Given the description of an element on the screen output the (x, y) to click on. 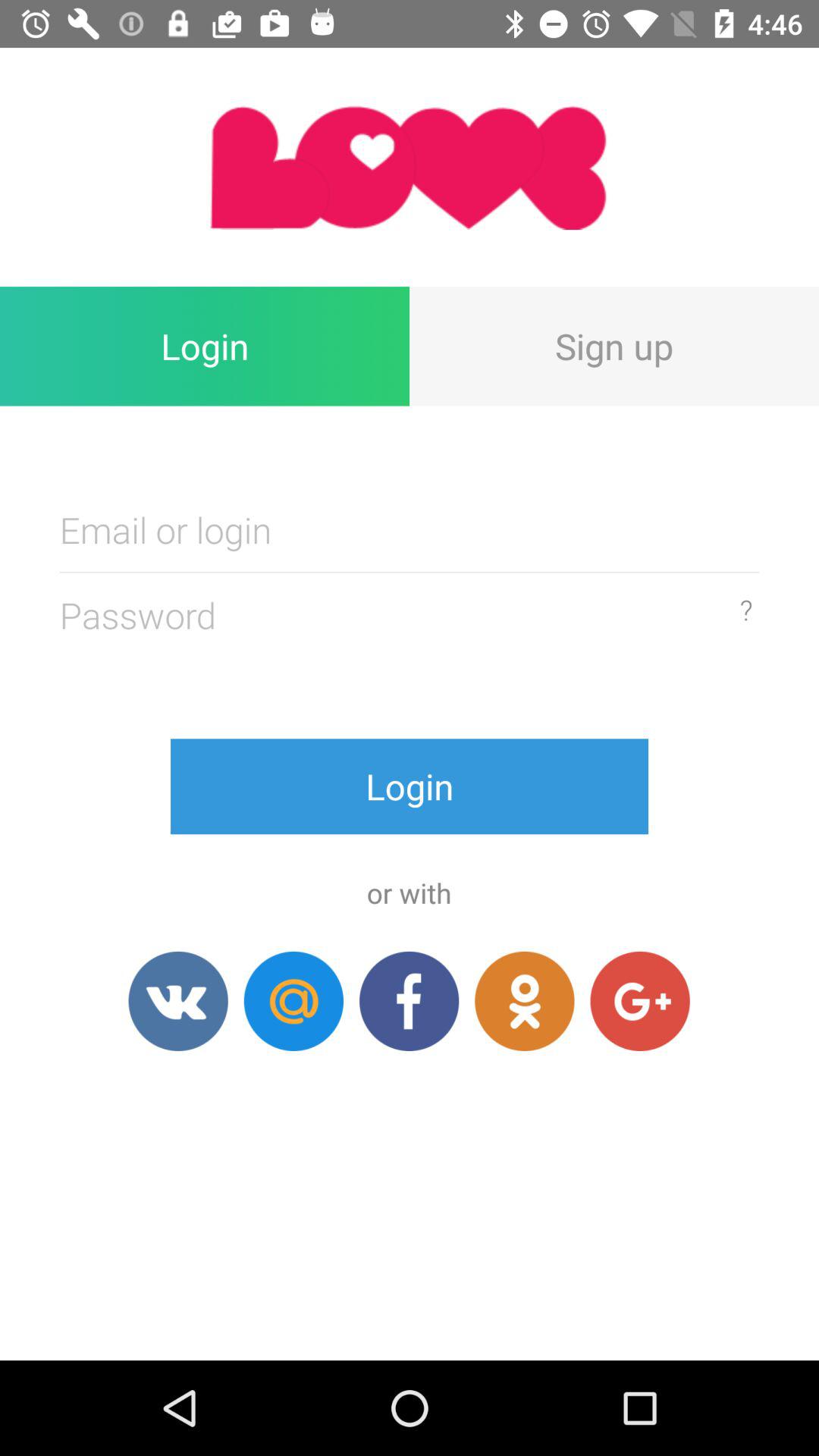
turn off app below or with app (408, 1001)
